Given the description of an element on the screen output the (x, y) to click on. 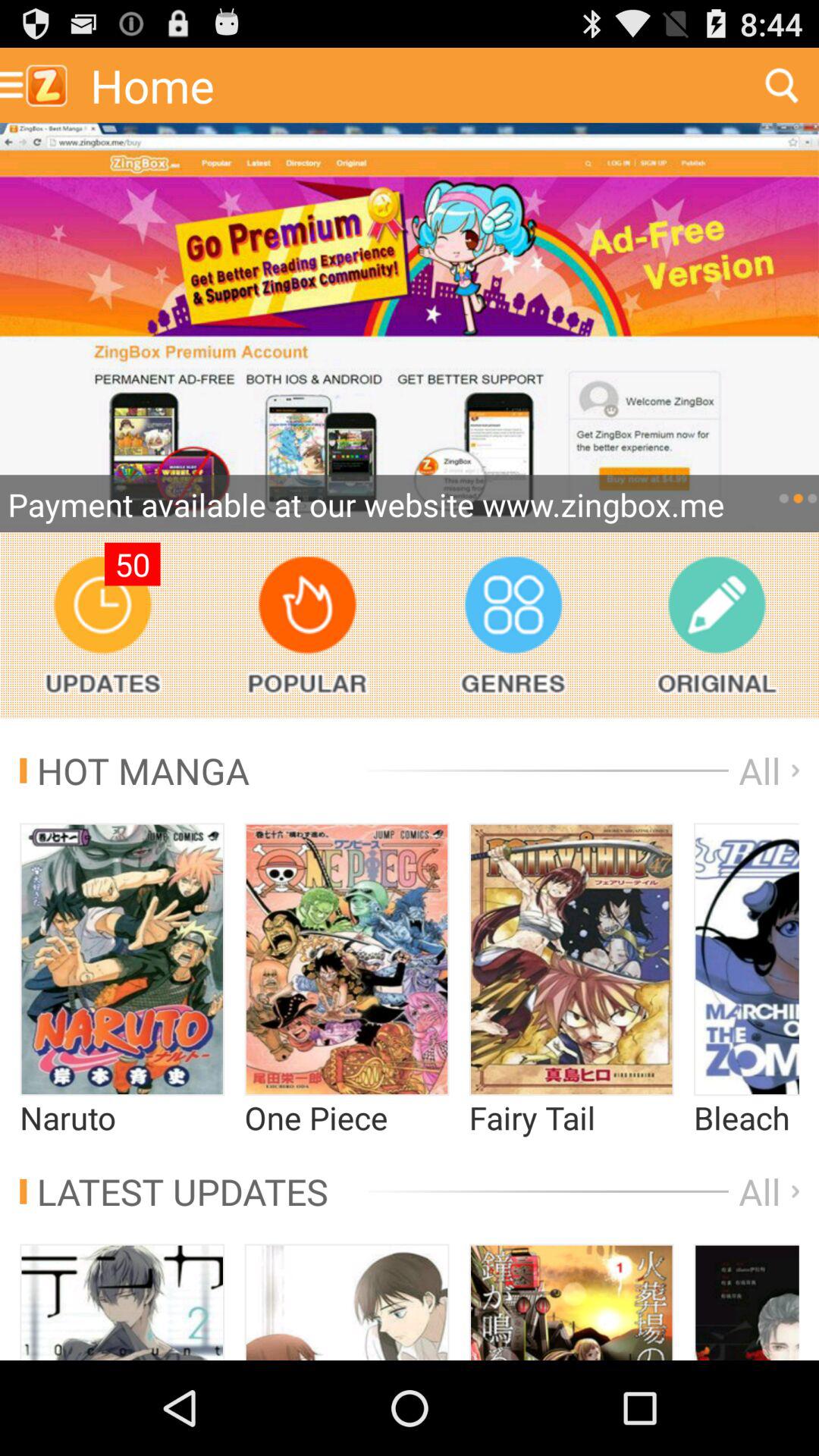
launch icon next to the all (134, 770)
